Given the description of an element on the screen output the (x, y) to click on. 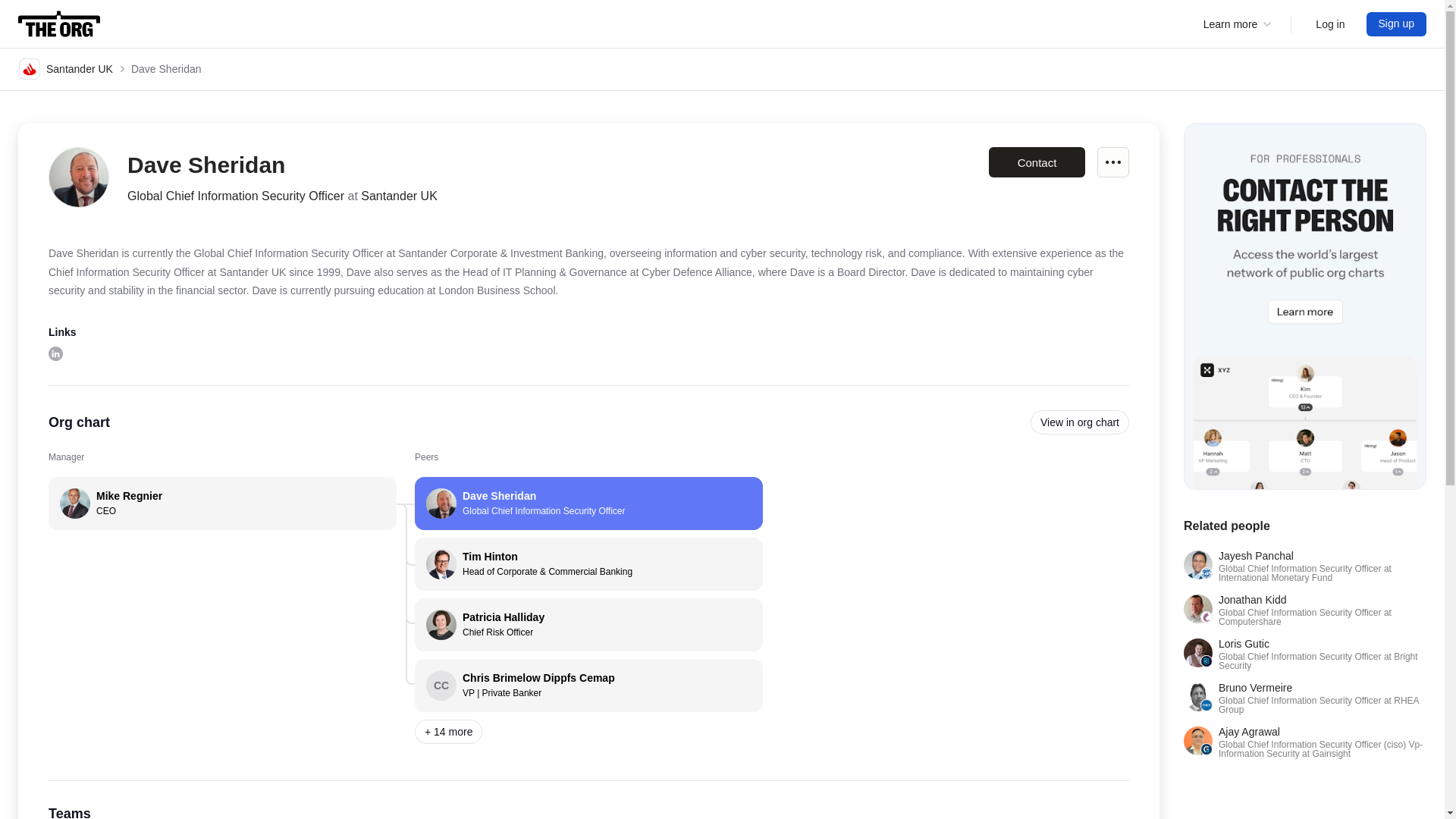
The Org Home (58, 23)
Log in to The Org (222, 502)
Contact (1329, 24)
Sign up to The Org (1036, 162)
Santander UK (588, 502)
Learn more (1396, 24)
View on linkedIn (65, 68)
Join, edit and report menu (1237, 24)
Sign up (55, 352)
